Given the description of an element on the screen output the (x, y) to click on. 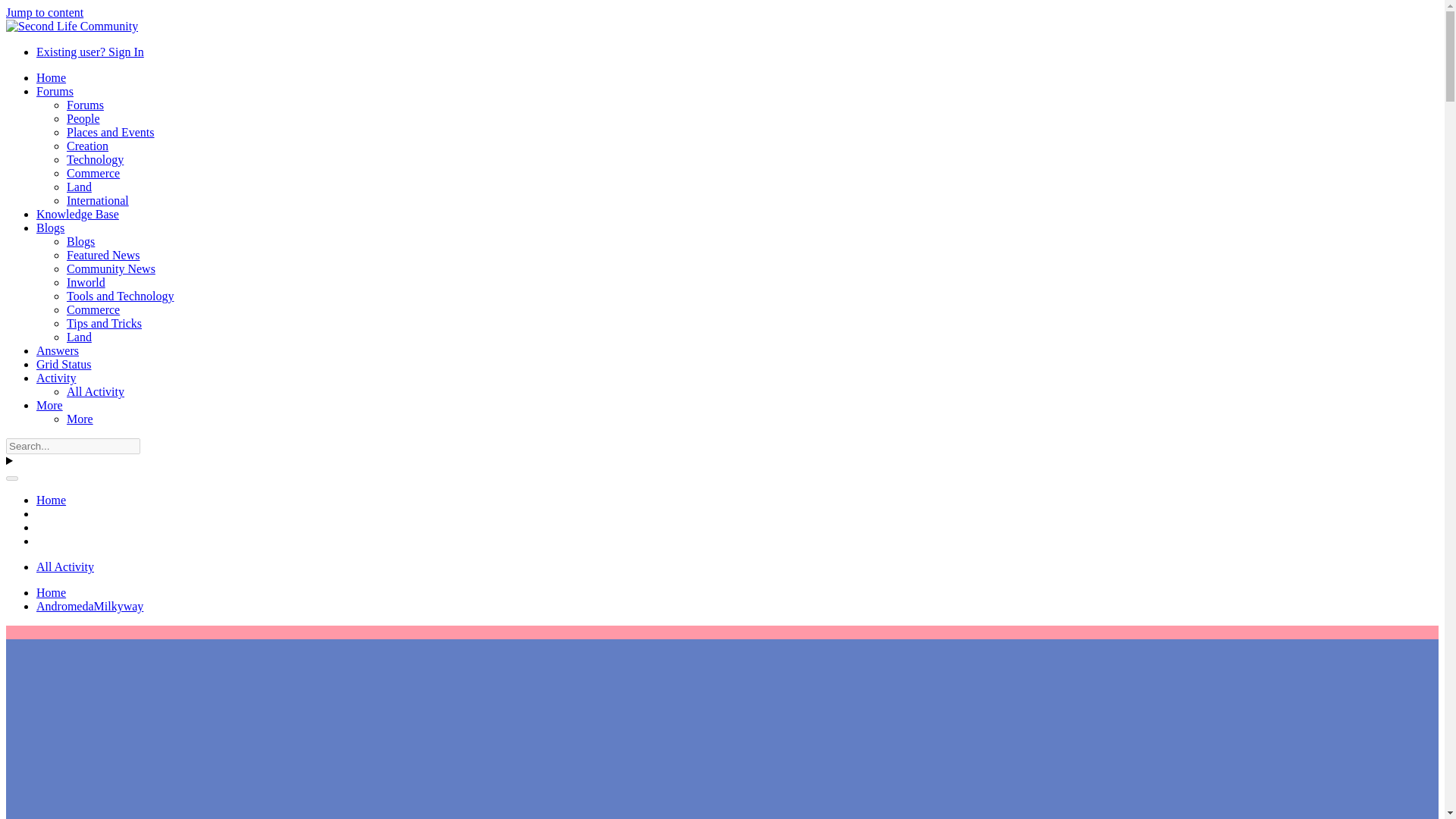
All Activity (65, 566)
Commerce (92, 173)
Creation (86, 145)
Tips and Tricks (103, 323)
Home (50, 499)
Answers (57, 350)
Go to main content on this page (43, 11)
All Activity (94, 391)
Jump to content (43, 11)
Featured News (102, 254)
